Given the description of an element on the screen output the (x, y) to click on. 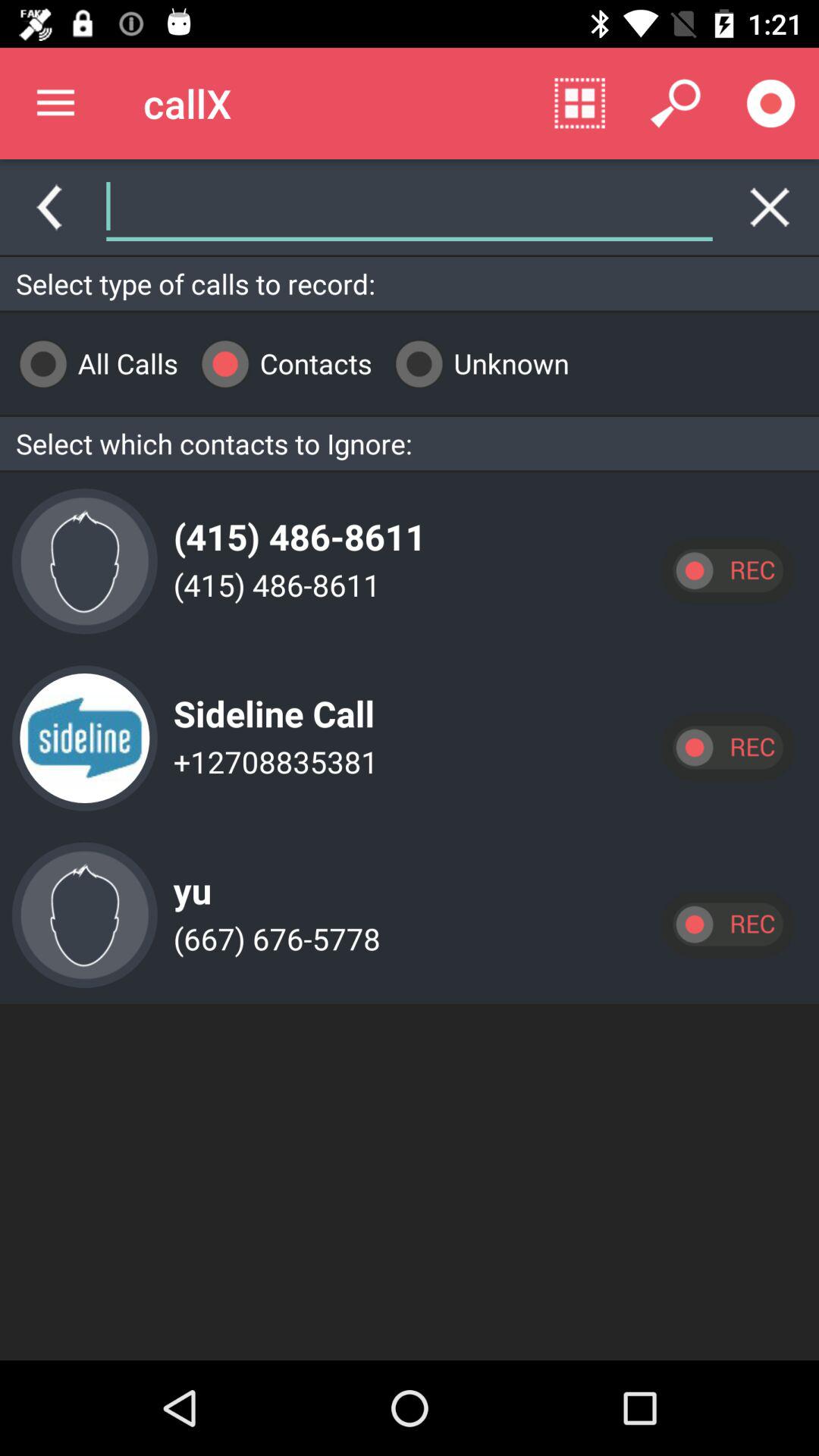
open item to the left of the filter icon (362, 206)
